Given the description of an element on the screen output the (x, y) to click on. 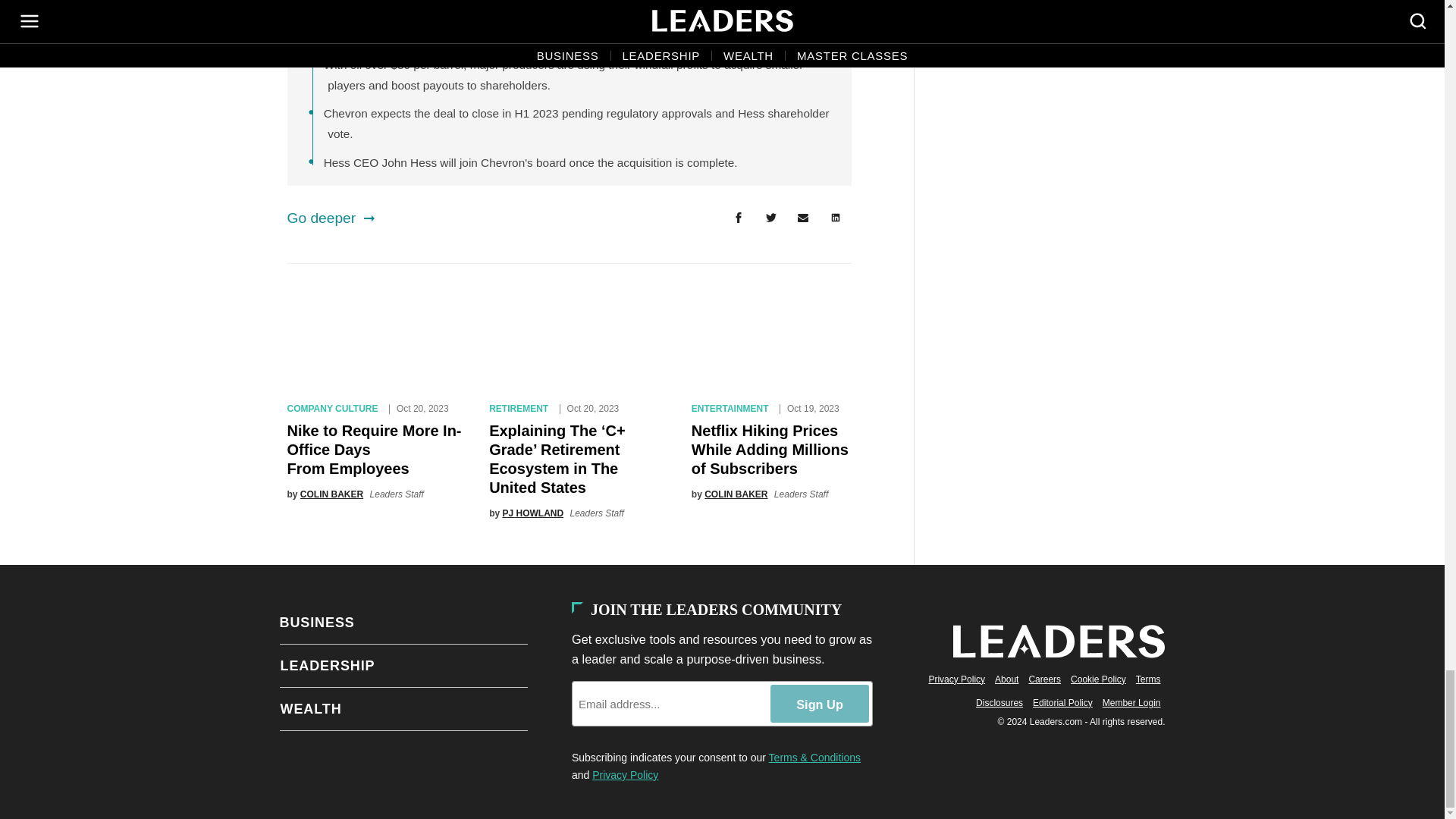
Share on Facebook (738, 218)
Share via Email (803, 218)
Sign Up (819, 703)
Share on Twitter (770, 218)
Share on LinkedIn (835, 218)
